Given the description of an element on the screen output the (x, y) to click on. 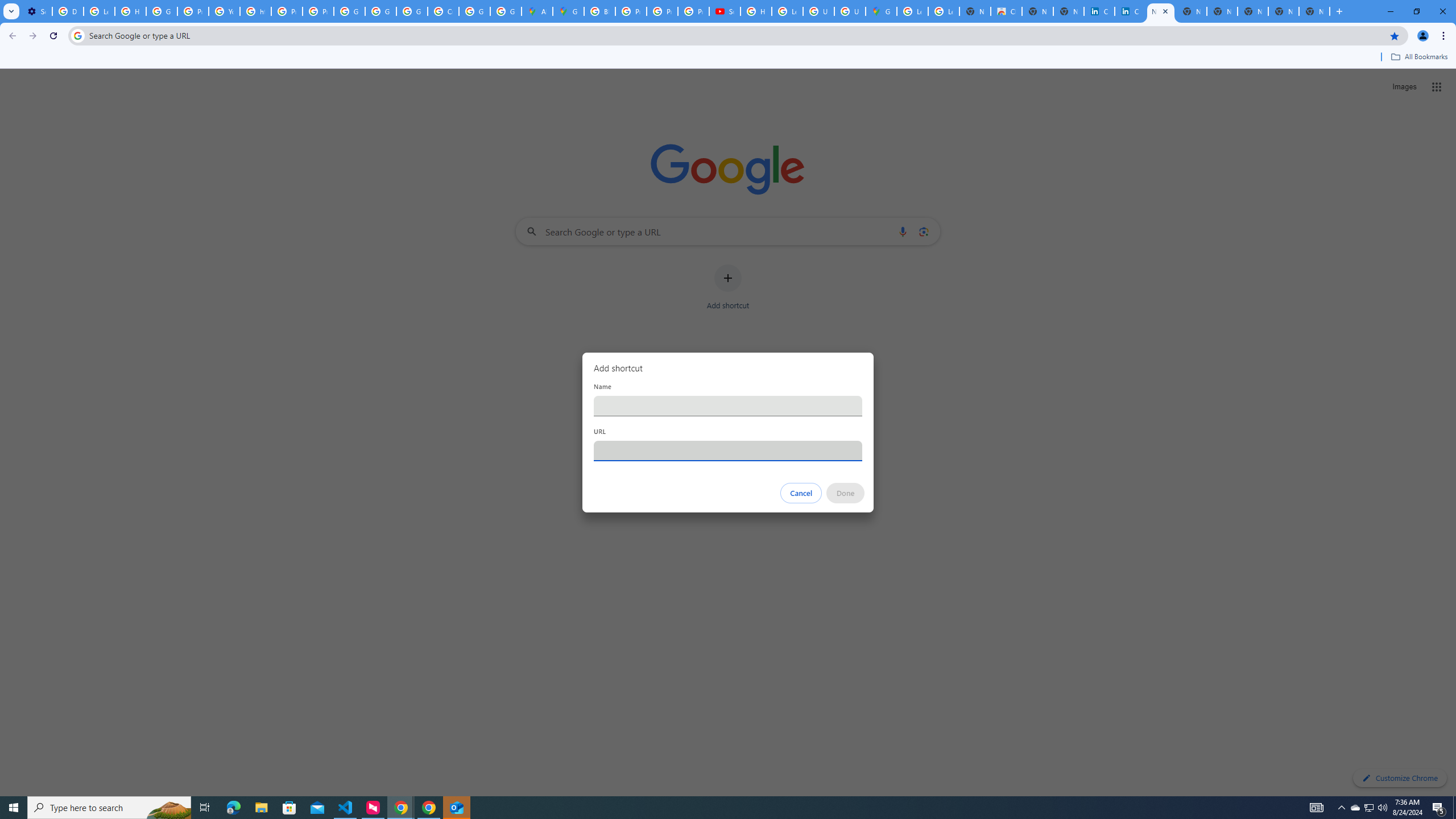
Address and search bar (735, 35)
https://scholar.google.com/ (255, 11)
Delete photos & videos - Computer - Google Photos Help (67, 11)
You (1422, 35)
Chrome (1445, 35)
Bookmarks (728, 58)
Create your Google Account (443, 11)
Privacy Help Center - Policies Help (631, 11)
